Given the description of an element on the screen output the (x, y) to click on. 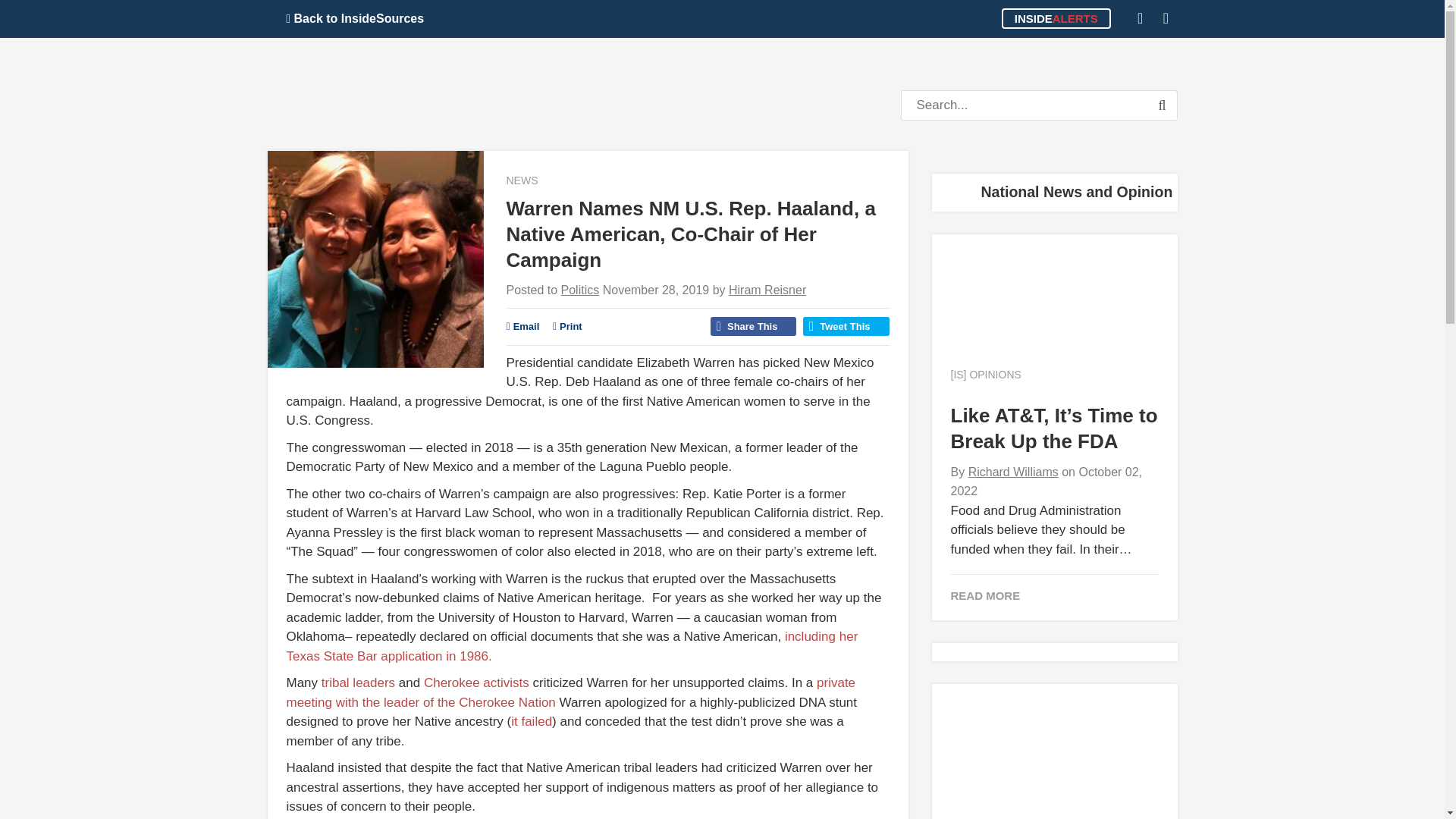
Posts by Hiram Reisner (767, 289)
INSIDEALERTS (1055, 18)
Email (523, 326)
Back to InsideSources (354, 18)
Posts by Richard Williams (1013, 472)
private meeting with the leader of the Cherokee Nation (571, 692)
it failed (531, 721)
Hiram Reisner (767, 289)
Print (567, 326)
tribal leaders (357, 682)
